Given the description of an element on the screen output the (x, y) to click on. 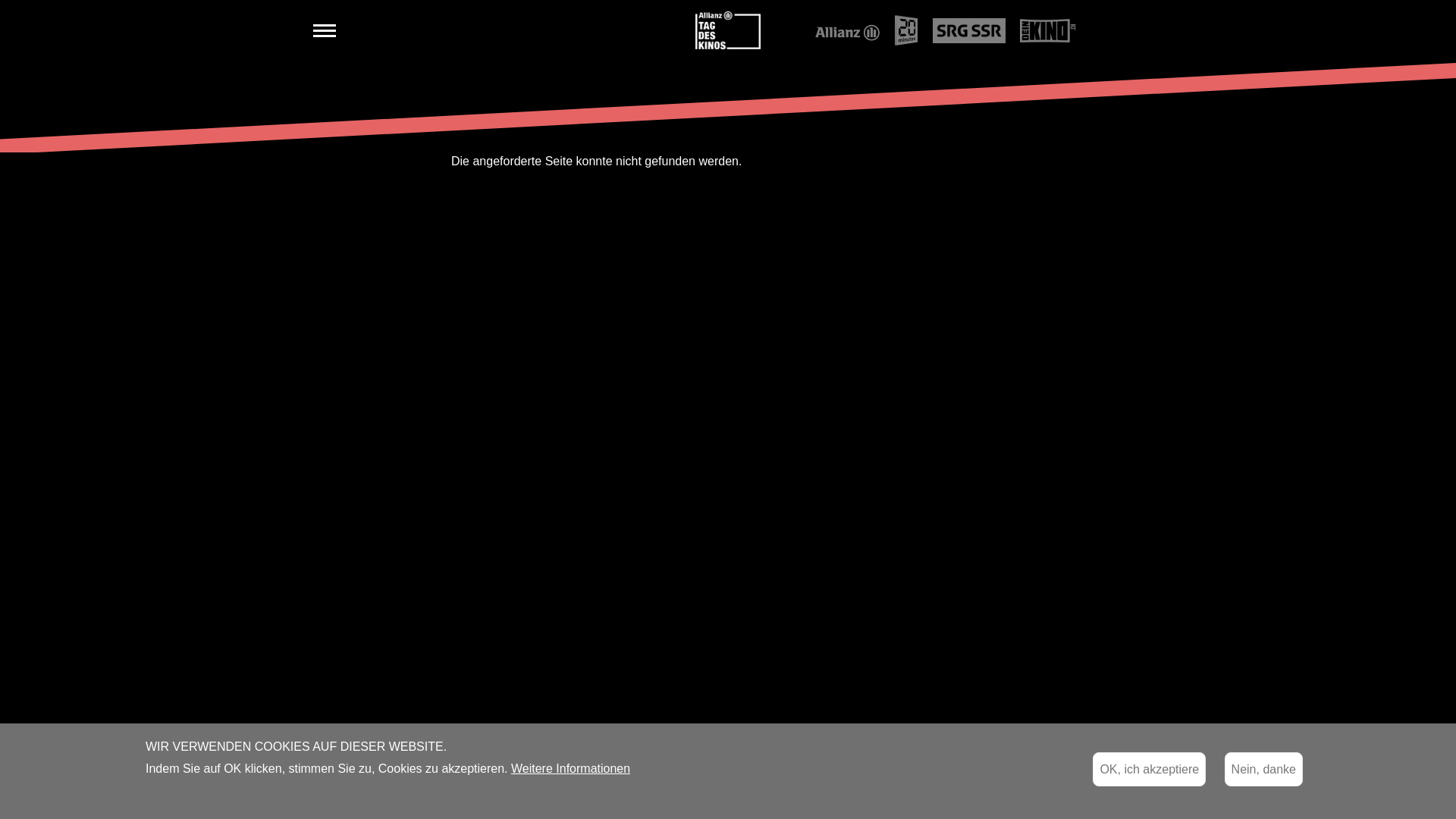
Nein, danke Element type: text (1263, 769)
Weitere Informationen Element type: text (570, 768)
OK, ich akzeptiere Element type: text (1148, 769)
Direkt zum Inhalt Element type: text (0, 0)
Startseite Element type: hover (727, 28)
